Given the description of an element on the screen output the (x, y) to click on. 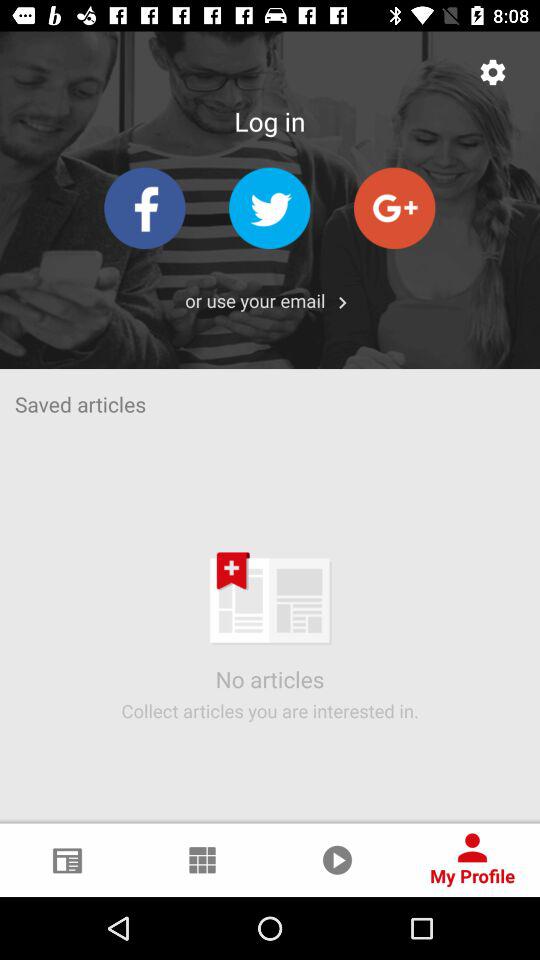
login with google+ account (394, 208)
